Given the description of an element on the screen output the (x, y) to click on. 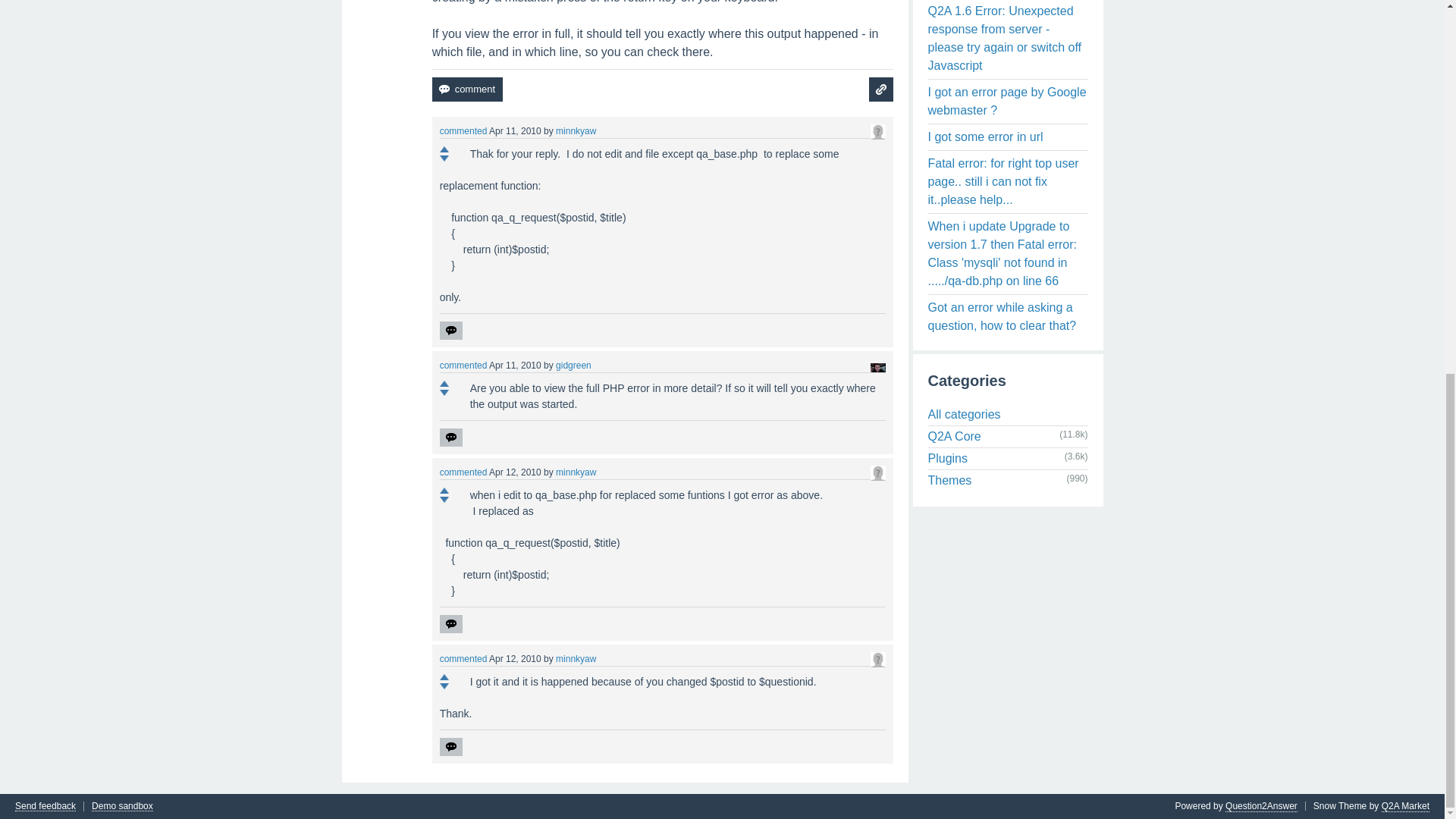
Click to vote down (443, 158)
Click to vote down (443, 392)
Ask a new question relating to this answer (881, 88)
Click to vote up (443, 383)
comment (467, 88)
Add a comment on this answer (467, 88)
reply (451, 330)
comment (467, 88)
ask related question (881, 88)
reply (451, 624)
Click to vote up (443, 149)
Reply to this comment (451, 330)
ask related question (881, 88)
reply (451, 437)
